Given the description of an element on the screen output the (x, y) to click on. 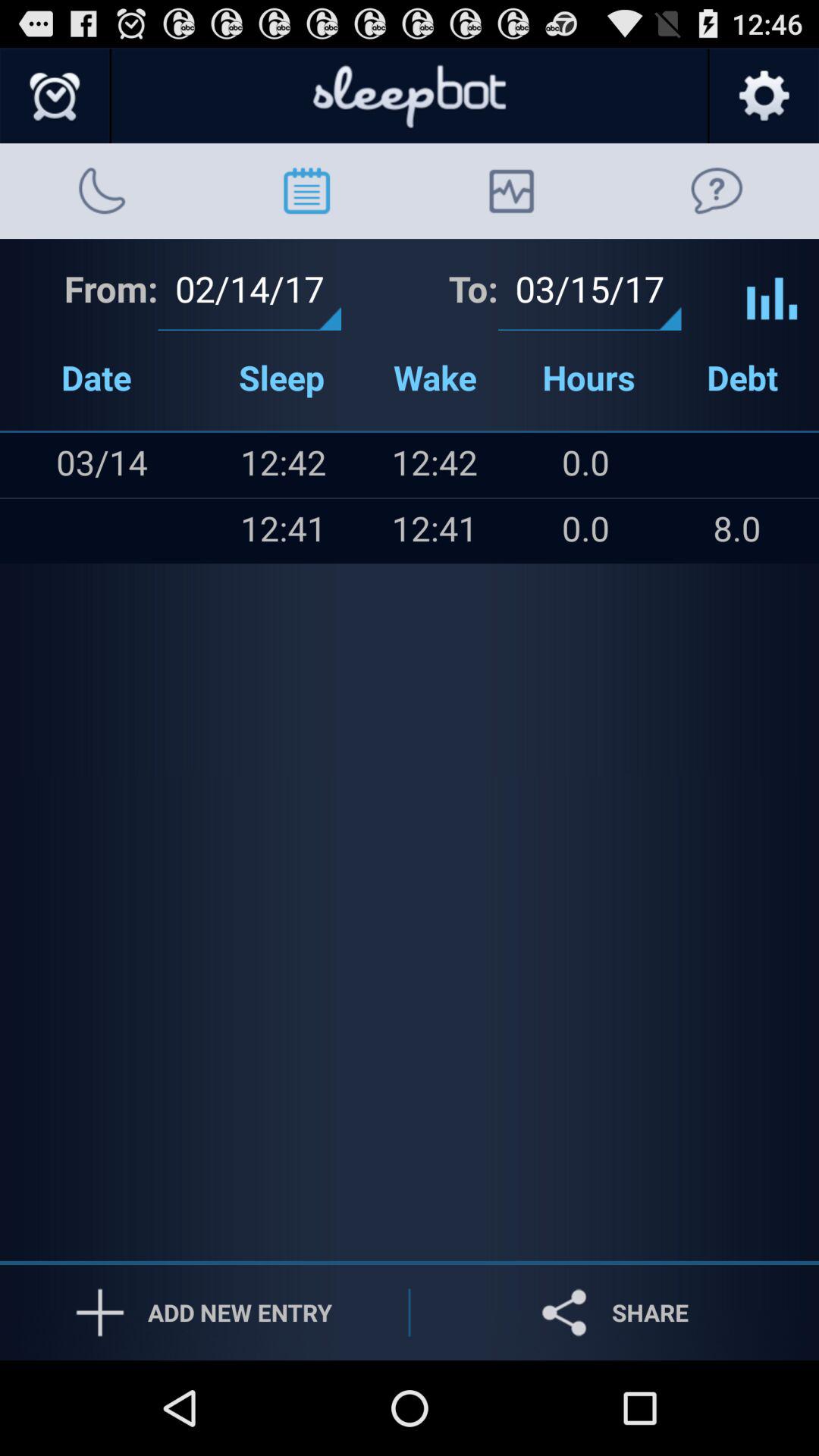
press item next to the 03/14 (31, 465)
